Given the description of an element on the screen output the (x, y) to click on. 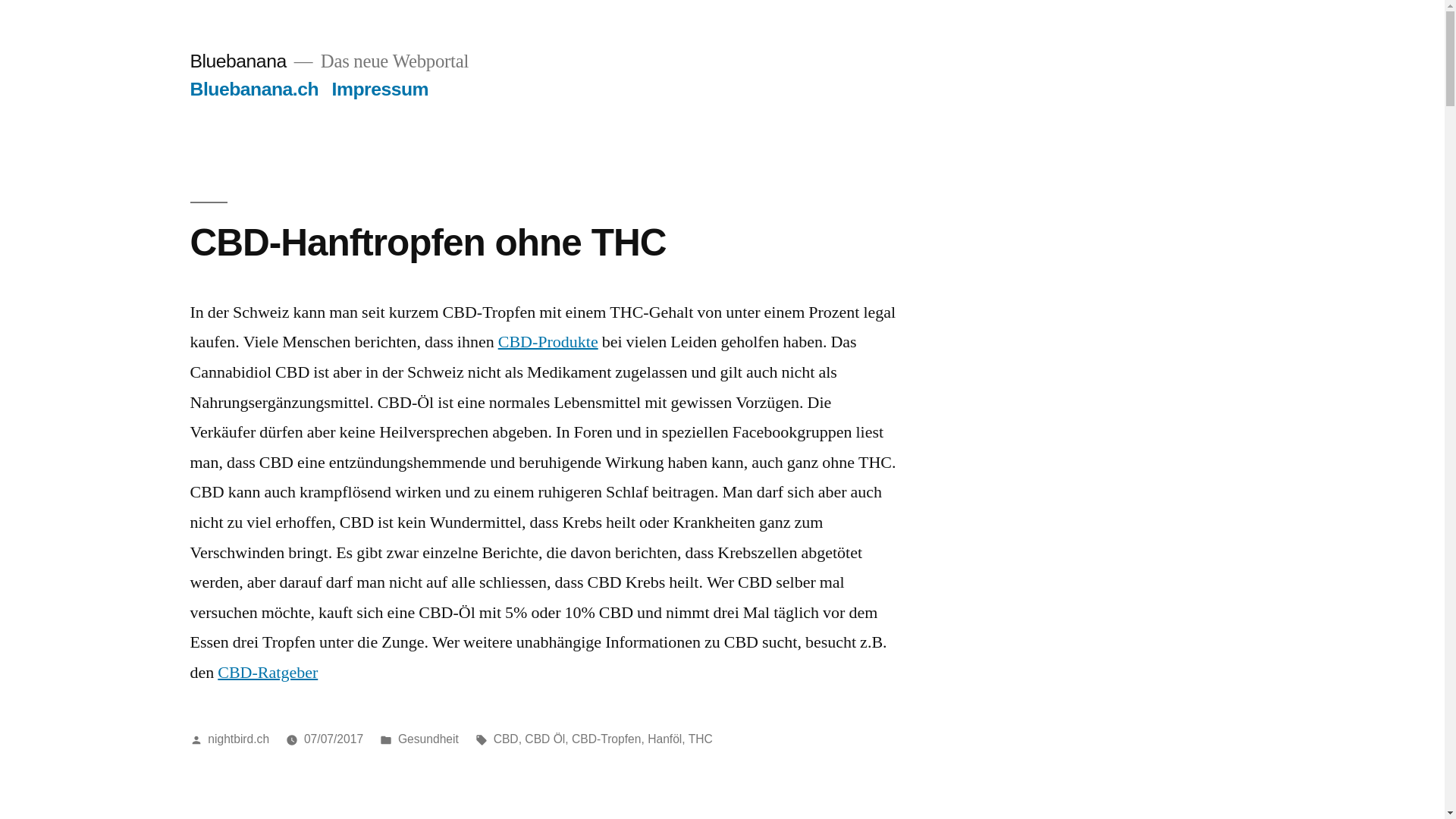
CBD-Tropfen Element type: text (605, 738)
nightbird.ch Element type: text (238, 738)
CBD-Produkte Element type: text (548, 341)
CBD-Hanftropfen ohne THC Element type: text (427, 242)
Bluebanana.ch Element type: text (253, 88)
THC Element type: text (700, 738)
Bluebanana Element type: text (237, 60)
07/07/2017 Element type: text (333, 738)
Gesundheit Element type: text (428, 738)
CBD Element type: text (505, 738)
Impressum Element type: text (380, 88)
CBD-Ratgeber Element type: text (267, 672)
